Given the description of an element on the screen output the (x, y) to click on. 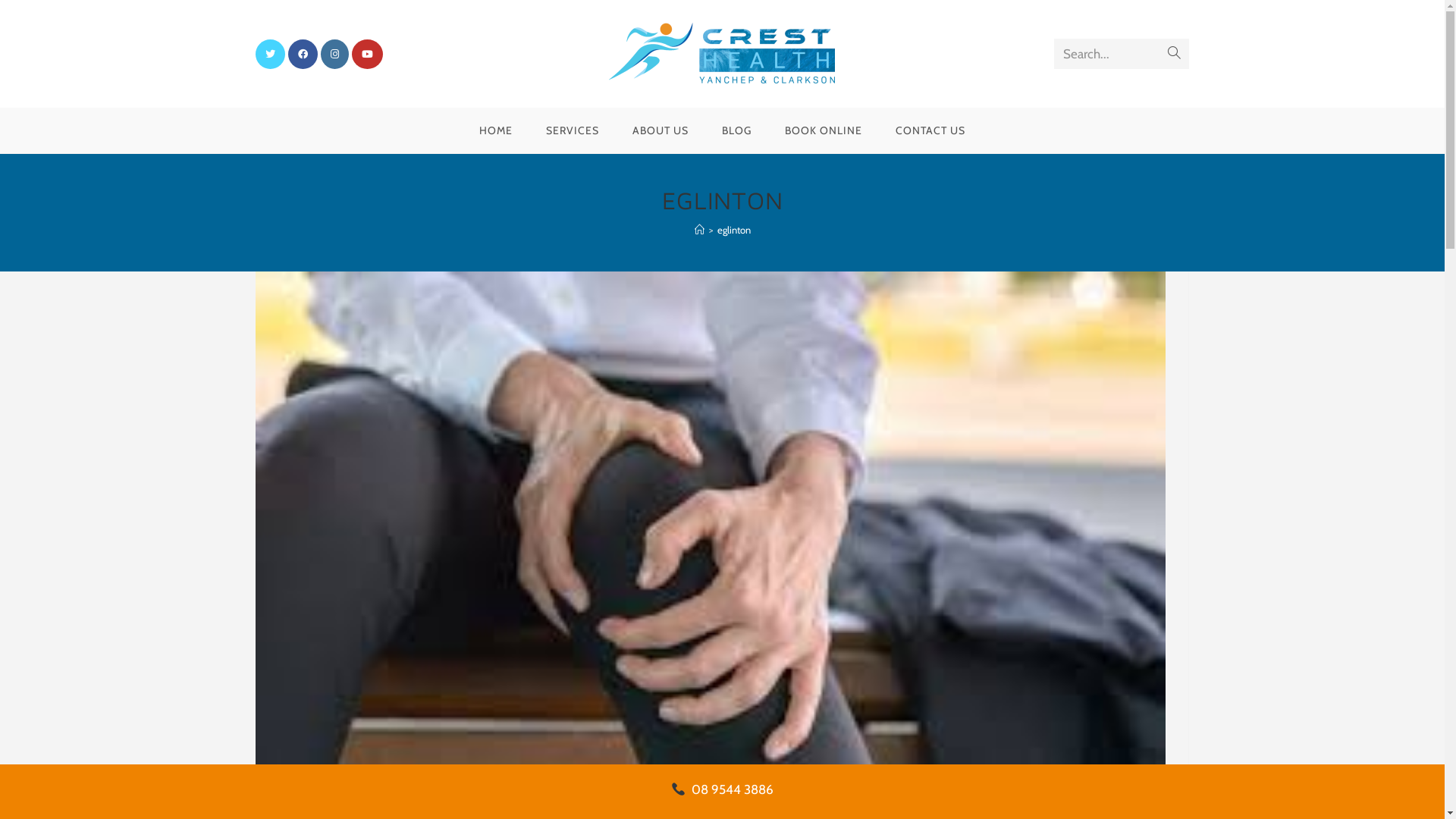
08 9544 3886 Element type: text (732, 789)
BOOK ONLINE Element type: text (823, 130)
HOME Element type: text (495, 130)
Submit search Element type: text (1174, 53)
EGLINTON Element type: text (722, 199)
SERVICES Element type: text (572, 130)
BLOG Element type: text (736, 130)
CONTACT US Element type: text (930, 130)
eglinton Element type: text (733, 229)
ABOUT US Element type: text (660, 130)
